Given the description of an element on the screen output the (x, y) to click on. 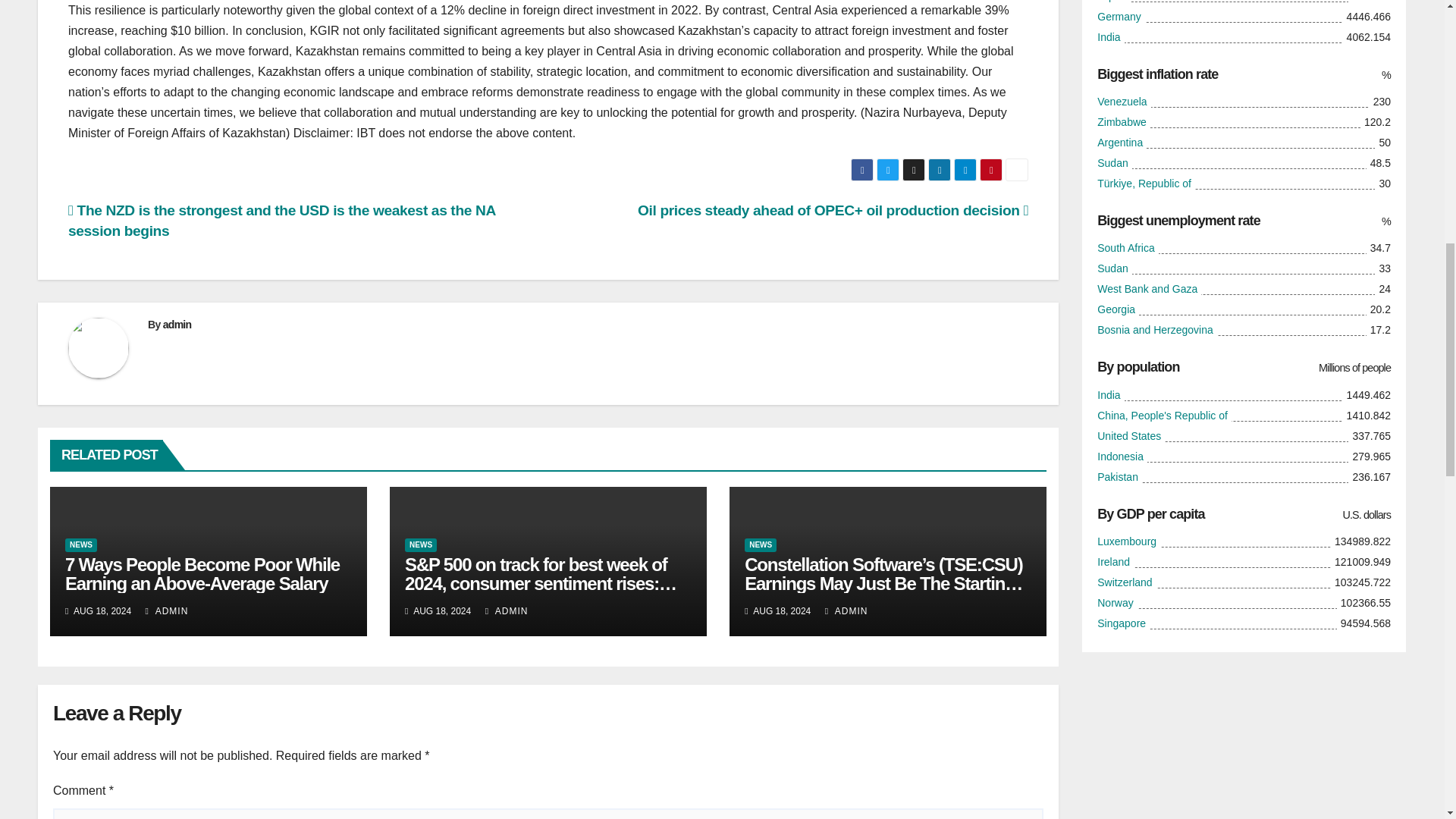
ADMIN (506, 611)
ADMIN (167, 611)
NEWS (420, 545)
admin (177, 324)
NEWS (81, 545)
NEWS (760, 545)
